Given the description of an element on the screen output the (x, y) to click on. 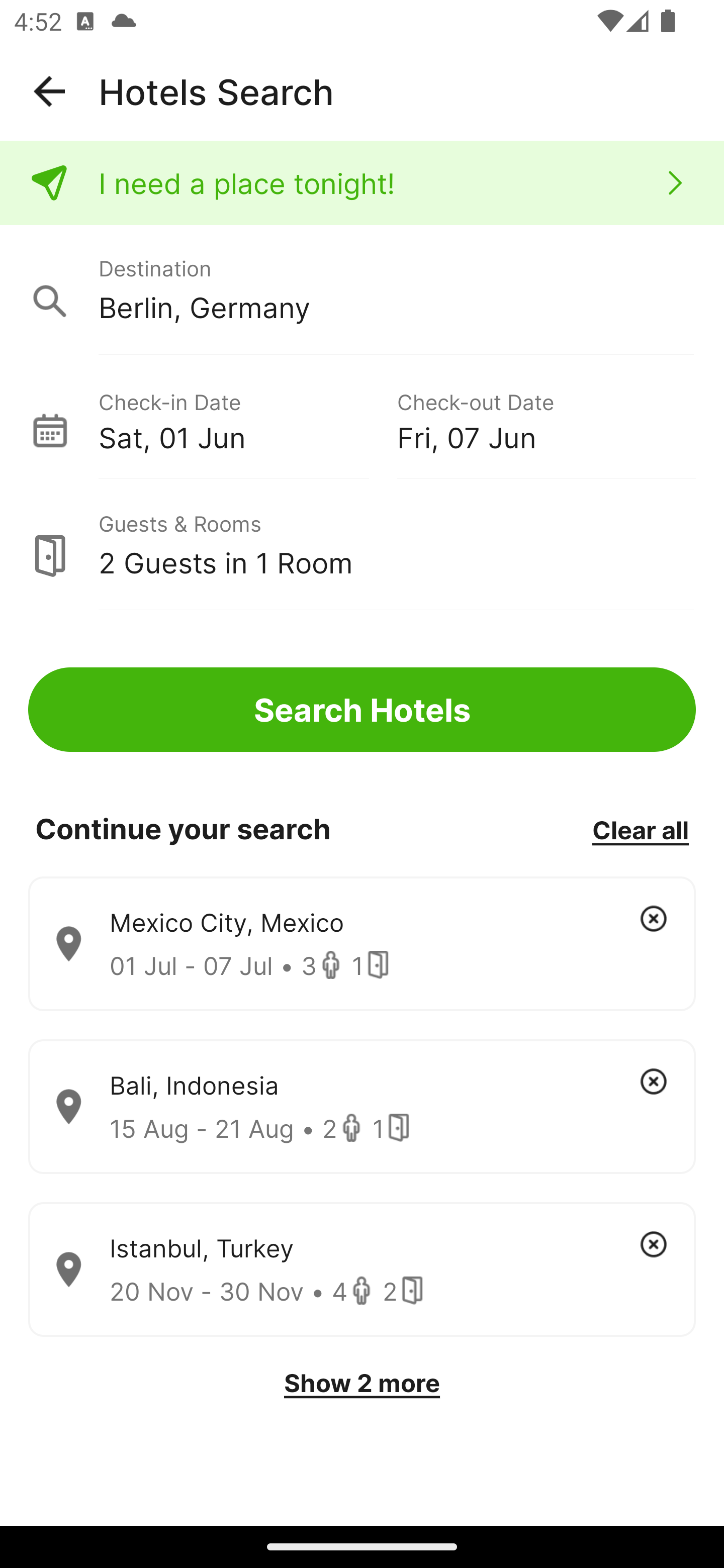
I need a place tonight! (362, 183)
Destination Berlin, Germany (362, 290)
Check-in Date Sat, 01 Jun (247, 418)
Check-out Date Fri, 07 Jun (546, 418)
Guests & Rooms 2 Guests in 1 Room (362, 545)
Search Hotels (361, 709)
Clear all (640, 829)
Mexico City, Mexico 01 Jul - 07 Jul • 3  1  (361, 943)
Bali, Indonesia 15 Aug - 21 Aug • 2  1  (361, 1106)
Istanbul, Turkey 20 Nov - 30 Nov • 4  2  (361, 1269)
Show 2 more (362, 1382)
